Given the description of an element on the screen output the (x, y) to click on. 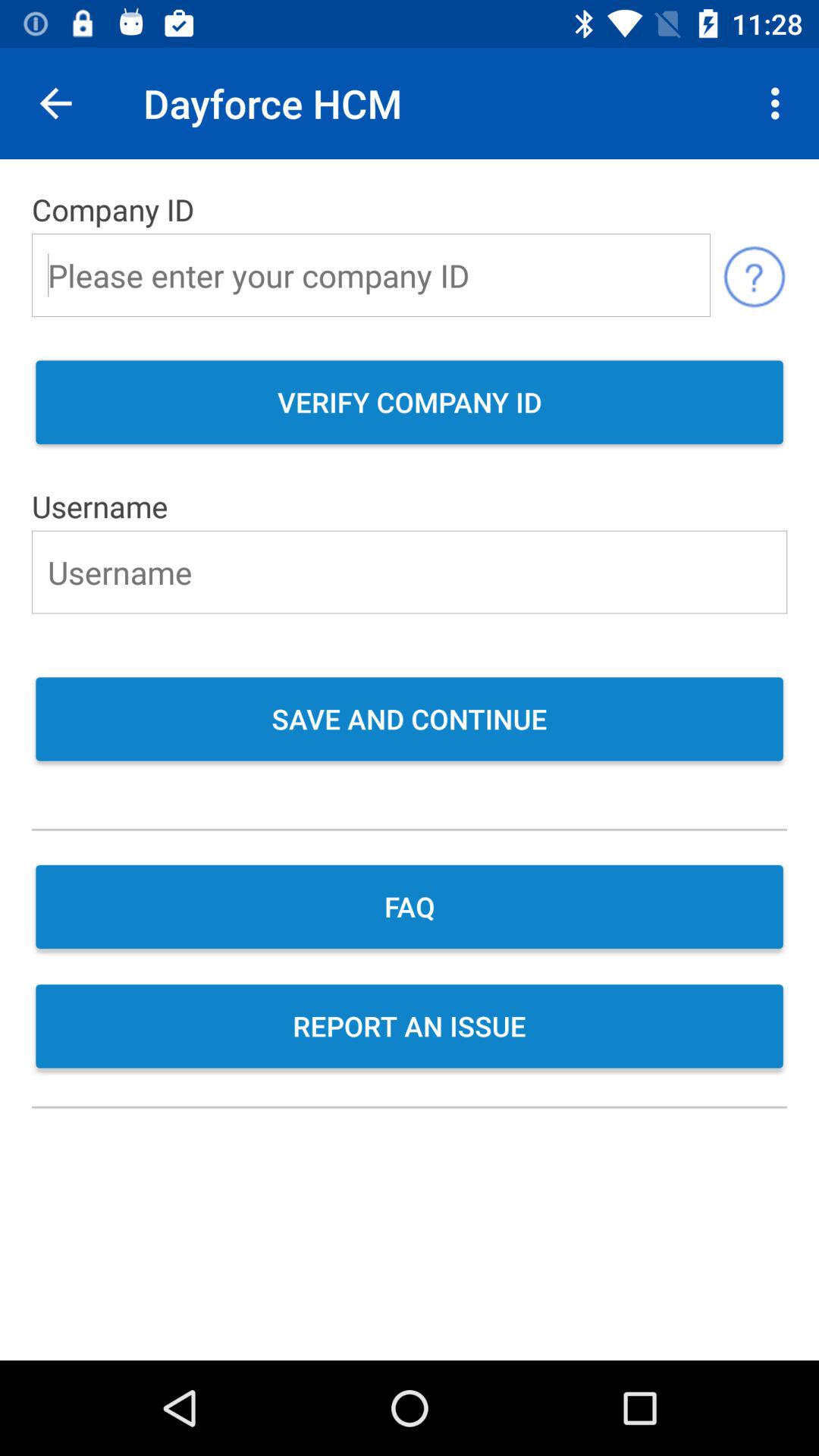
click the icon next to dayforce hcm icon (55, 103)
